Given the description of an element on the screen output the (x, y) to click on. 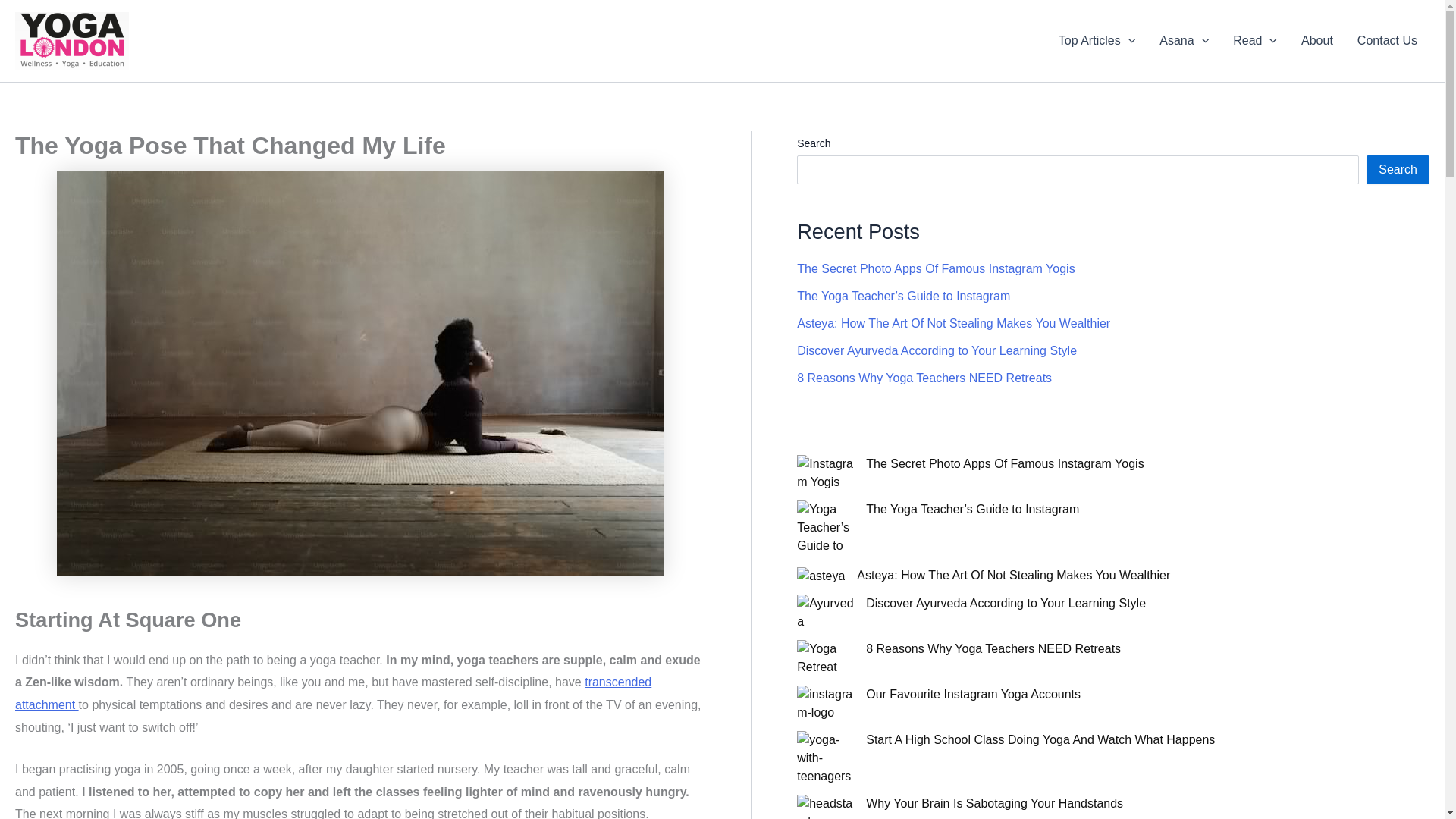
Contact Us (1387, 40)
Read (1254, 40)
Top Articles (1096, 40)
About (1316, 40)
Asana (1184, 40)
